Given the description of an element on the screen output the (x, y) to click on. 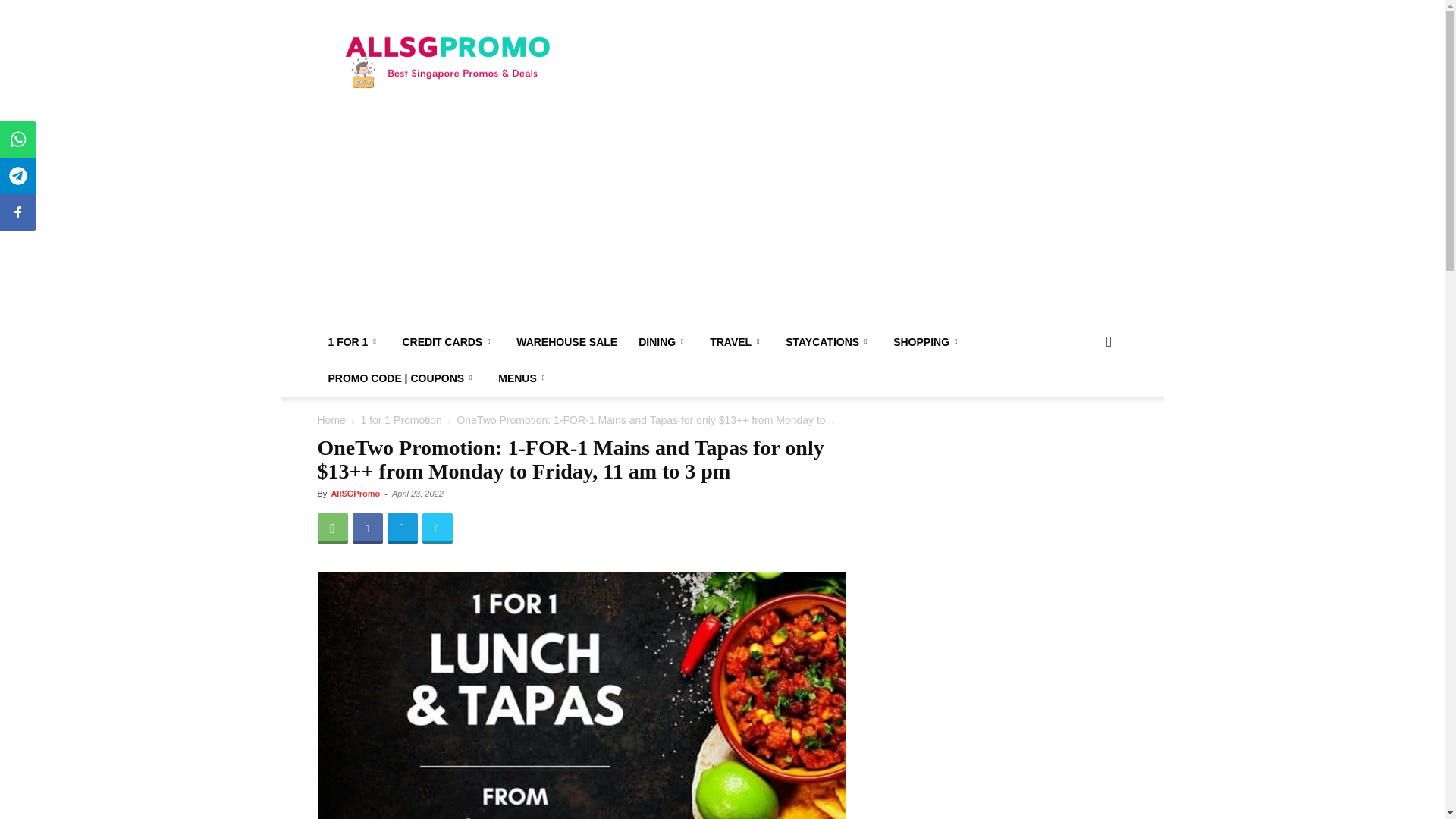
1 FOR 1 (354, 341)
